Given the description of an element on the screen output the (x, y) to click on. 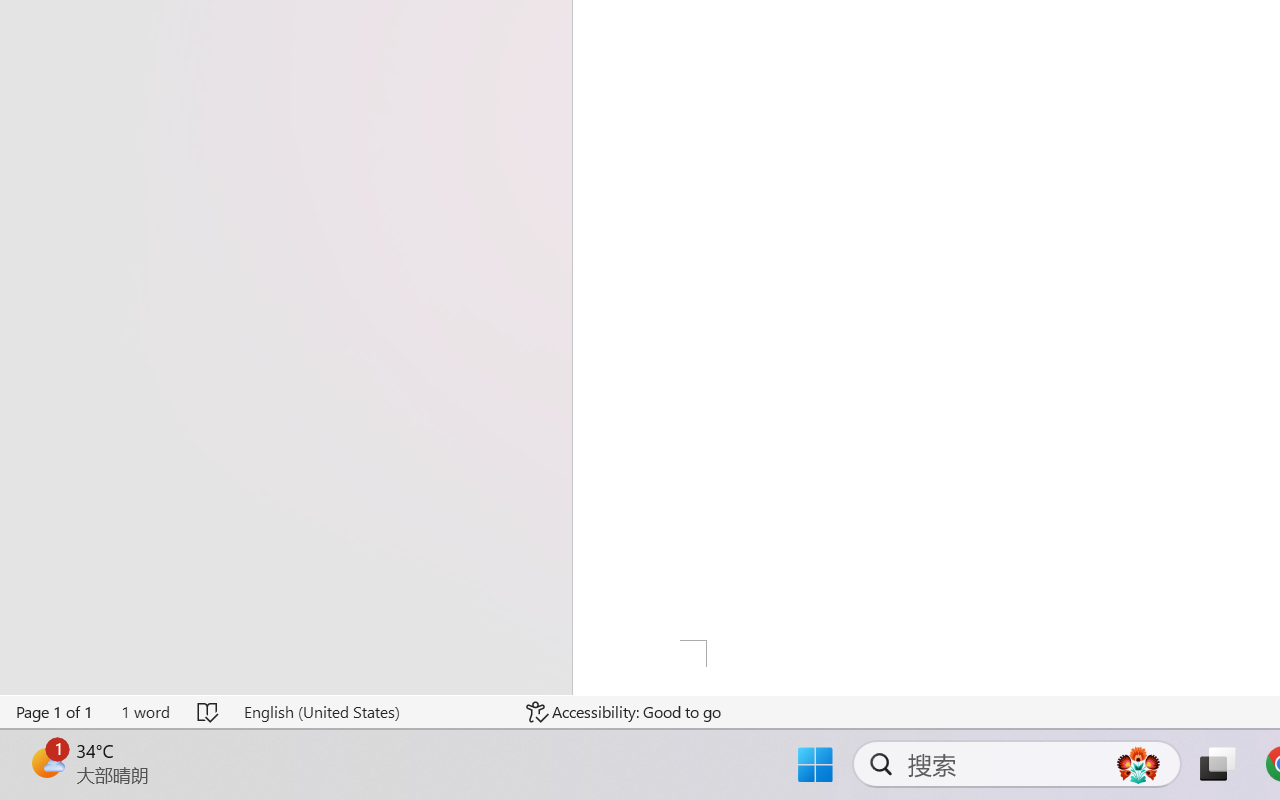
AutomationID: BadgeAnchorLargeTicker (46, 762)
Word Count 1 word (145, 712)
Language English (United States) (370, 712)
Spelling and Grammar Check No Errors (208, 712)
Accessibility Checker Accessibility: Good to go (623, 712)
AutomationID: DynamicSearchBoxGleamImage (1138, 764)
Page Number Page 1 of 1 (55, 712)
